Given the description of an element on the screen output the (x, y) to click on. 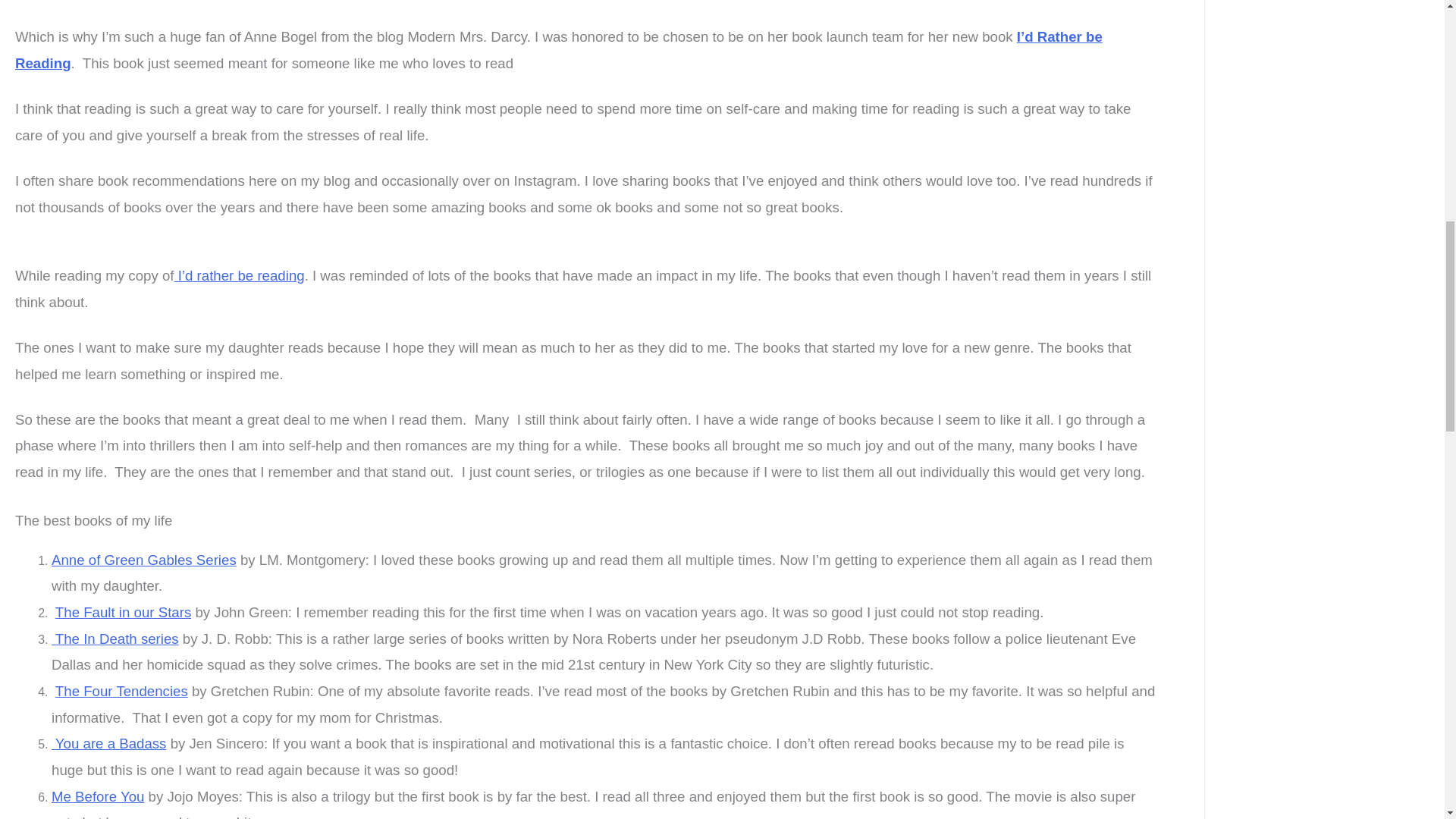
Anne of Green Gables Series (142, 560)
 The In Death series (114, 638)
The Fault in our Stars (122, 611)
Me Before You (97, 796)
 You are a Badass (107, 743)
The Four Tendencies (121, 691)
